Given the description of an element on the screen output the (x, y) to click on. 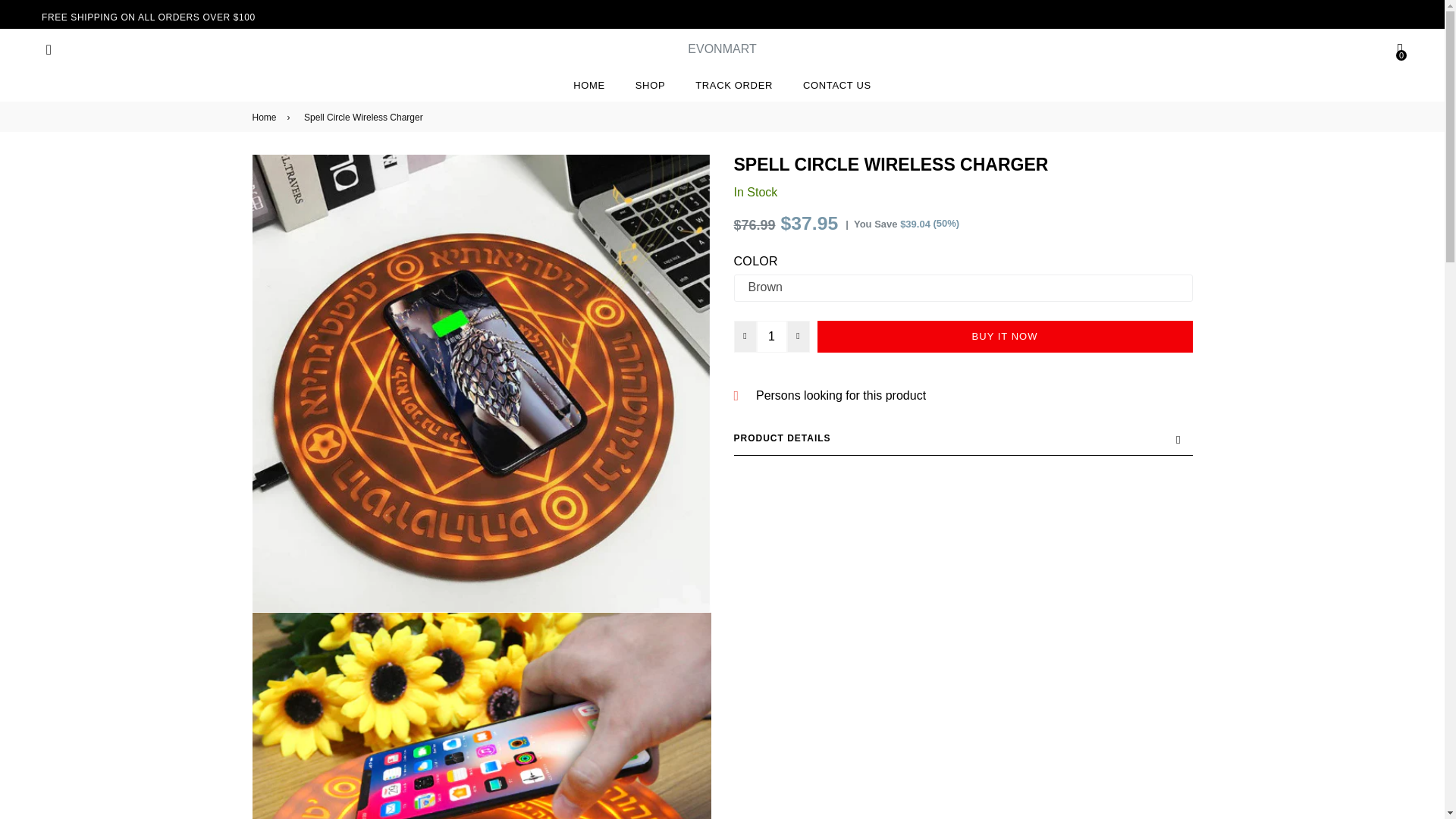
Home (266, 117)
1 (772, 336)
BUY IT NOW (1004, 336)
PRODUCT DETAILS (962, 438)
TRACK ORDER (733, 85)
Back to the home page (266, 117)
CONTACT US (836, 85)
HOME (588, 85)
SHOP (649, 85)
EVONMART (721, 49)
